Given the description of an element on the screen output the (x, y) to click on. 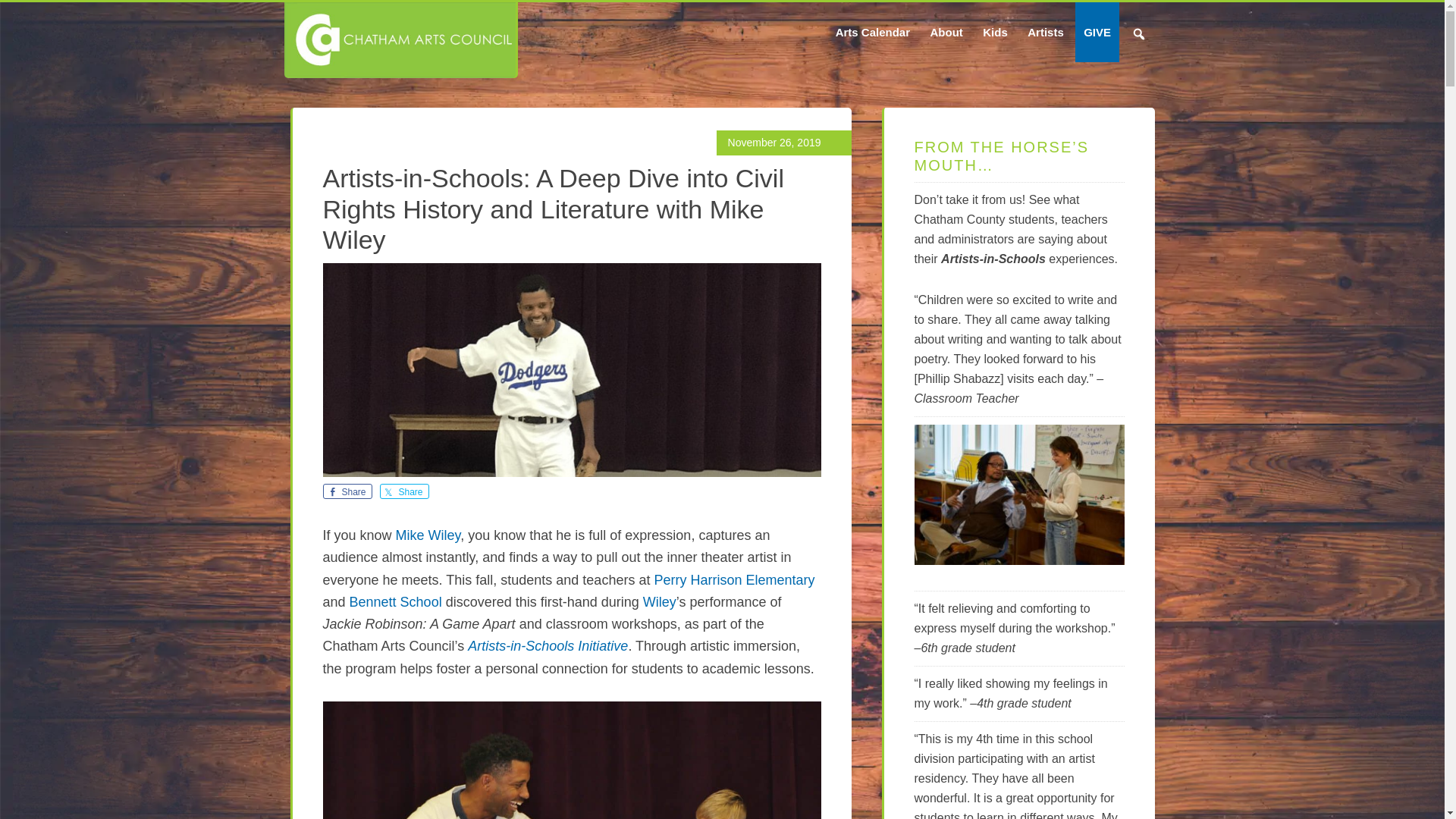
Arts Calendar (872, 32)
CHATHAM ARTS COUNCIL (399, 39)
Share (403, 491)
Mike Wiley (428, 534)
Share (347, 491)
